Given the description of an element on the screen output the (x, y) to click on. 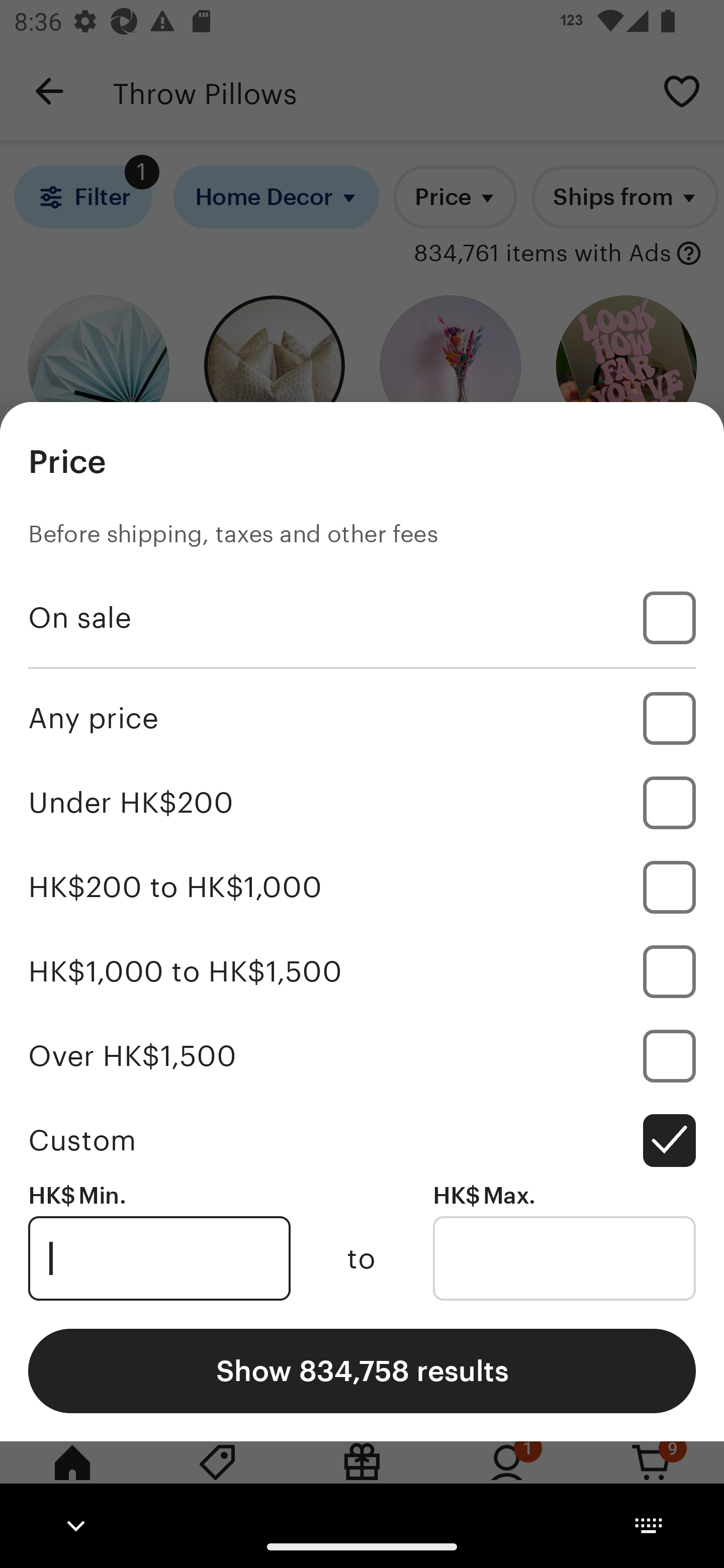
On sale (362, 617)
Any price (362, 717)
Under HK$200 (362, 802)
HK$200 to HK$1,000 (362, 887)
HK$1,000 to HK$1,500 (362, 970)
Over HK$1,500 (362, 1054)
Custom (362, 1139)
Show 834,758 results (361, 1370)
